Given the description of an element on the screen output the (x, y) to click on. 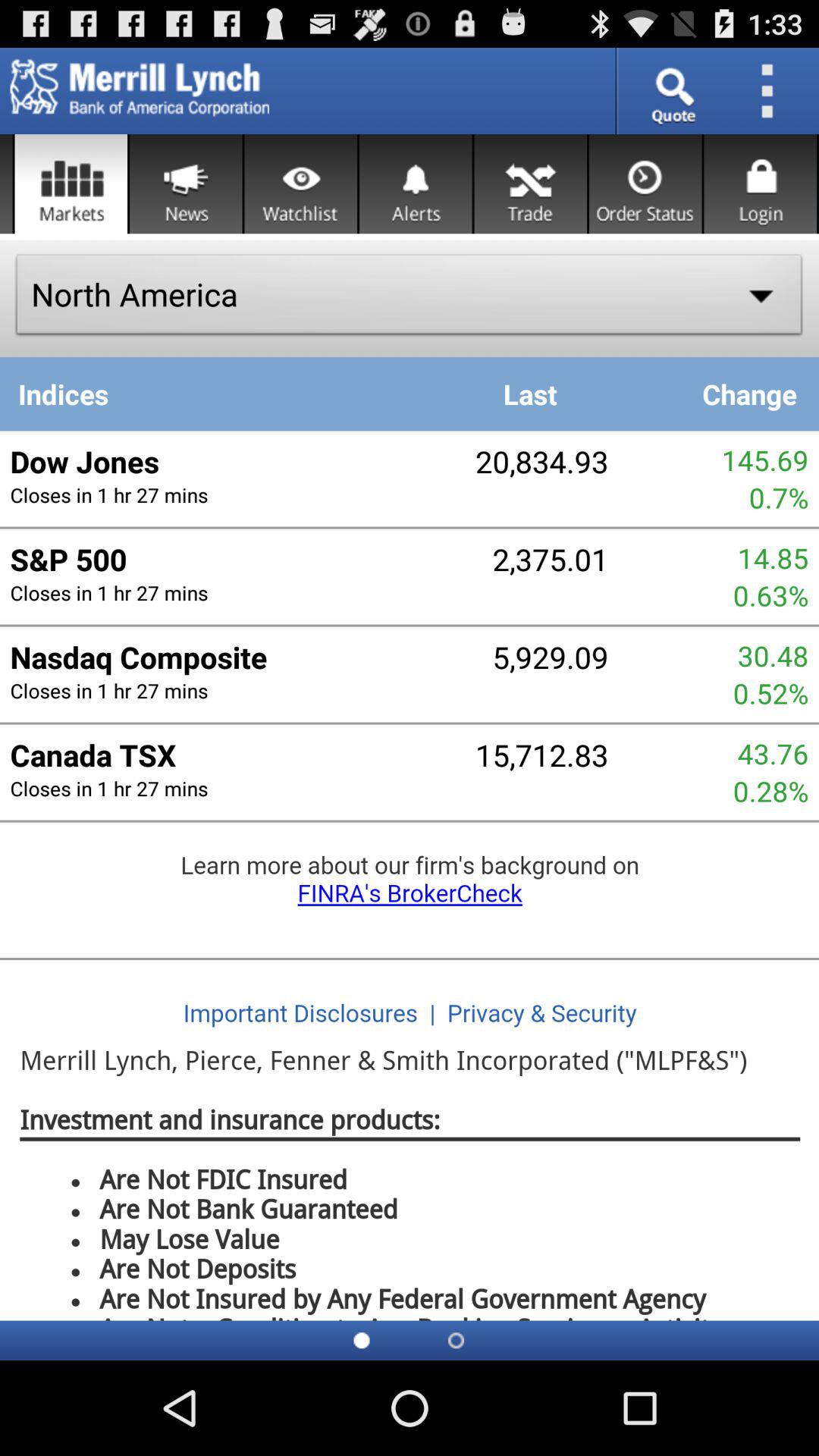
choose option (70, 183)
